Given the description of an element on the screen output the (x, y) to click on. 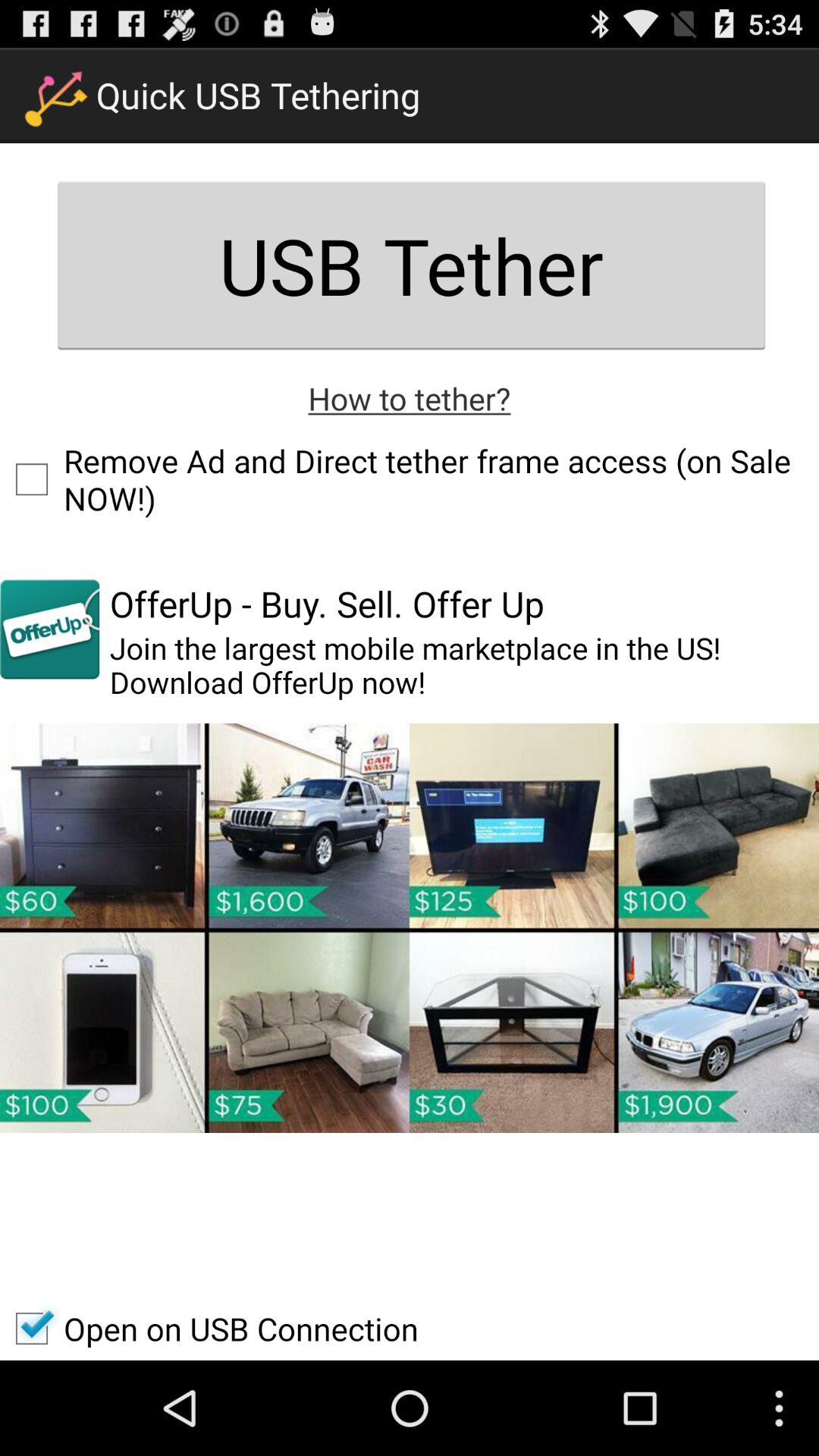
turn off the item next to offerup buy sell app (49, 629)
